Given the description of an element on the screen output the (x, y) to click on. 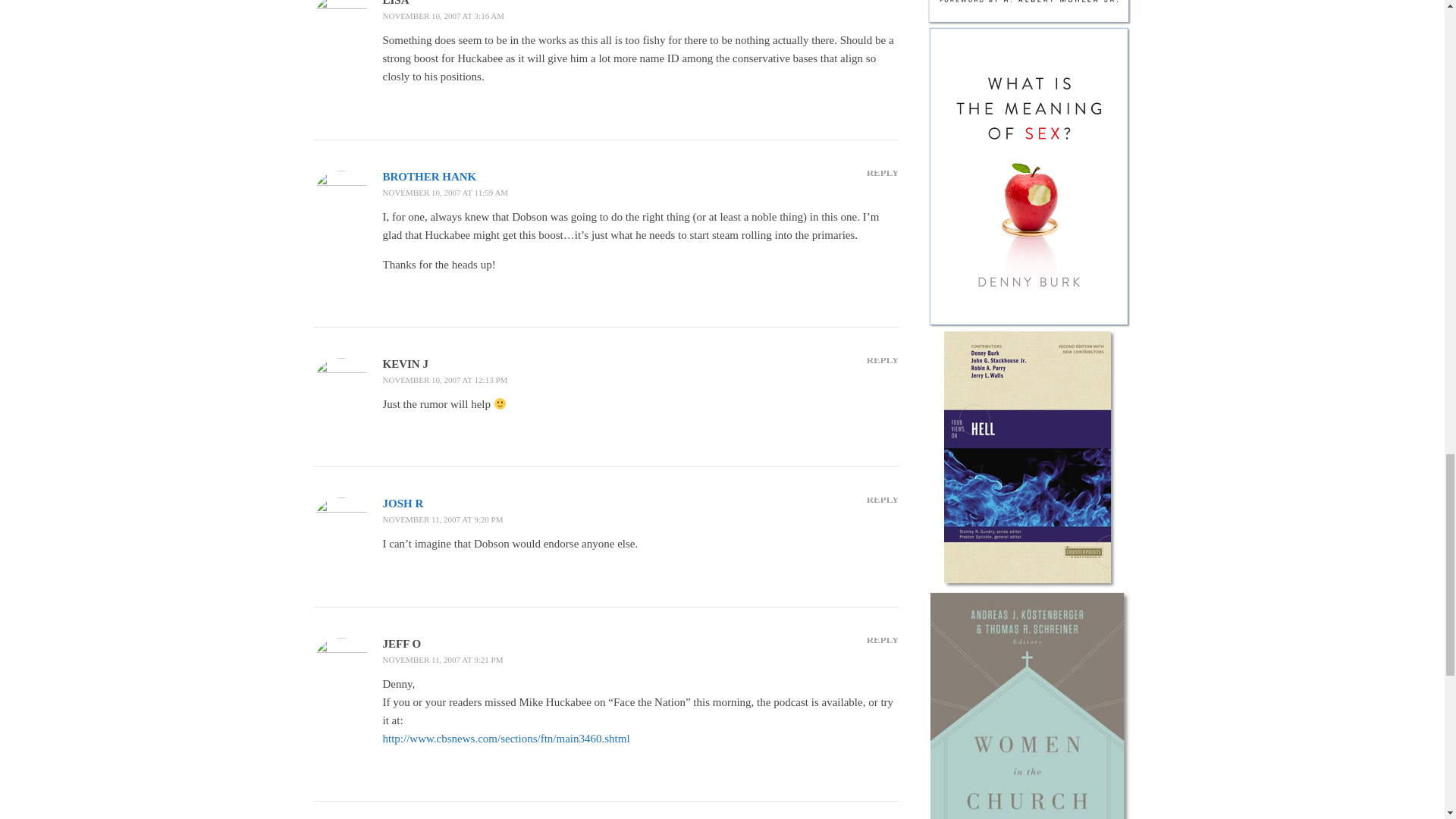
REPLY (882, 171)
NOVEMBER 10, 2007 AT 11:59 AM (444, 192)
NOVEMBER 10, 2007 AT 3:16 AM (442, 15)
BROTHER HANK (428, 176)
REPLY (882, 2)
